Given the description of an element on the screen output the (x, y) to click on. 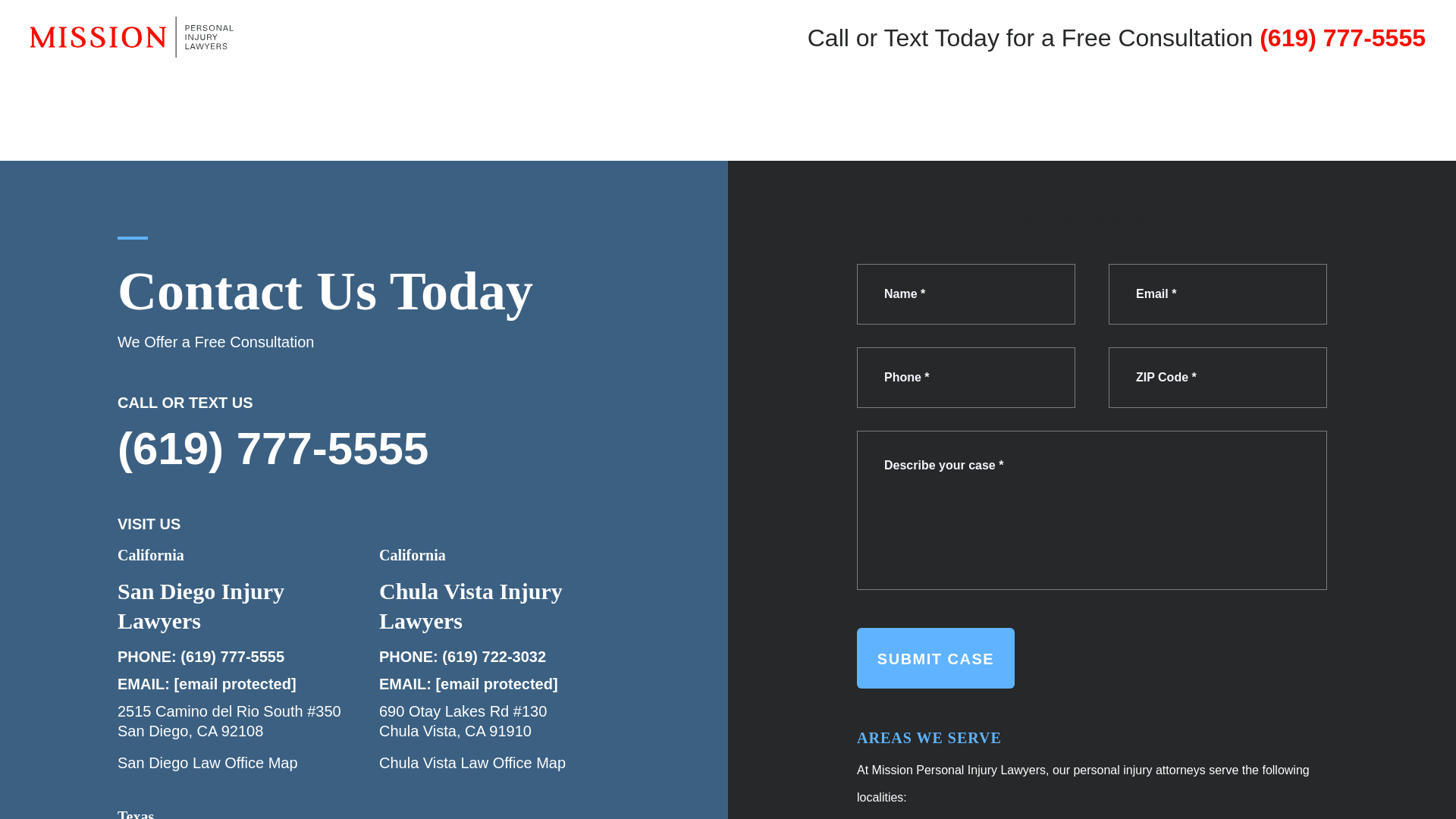
Submit Case (935, 658)
